Given the description of an element on the screen output the (x, y) to click on. 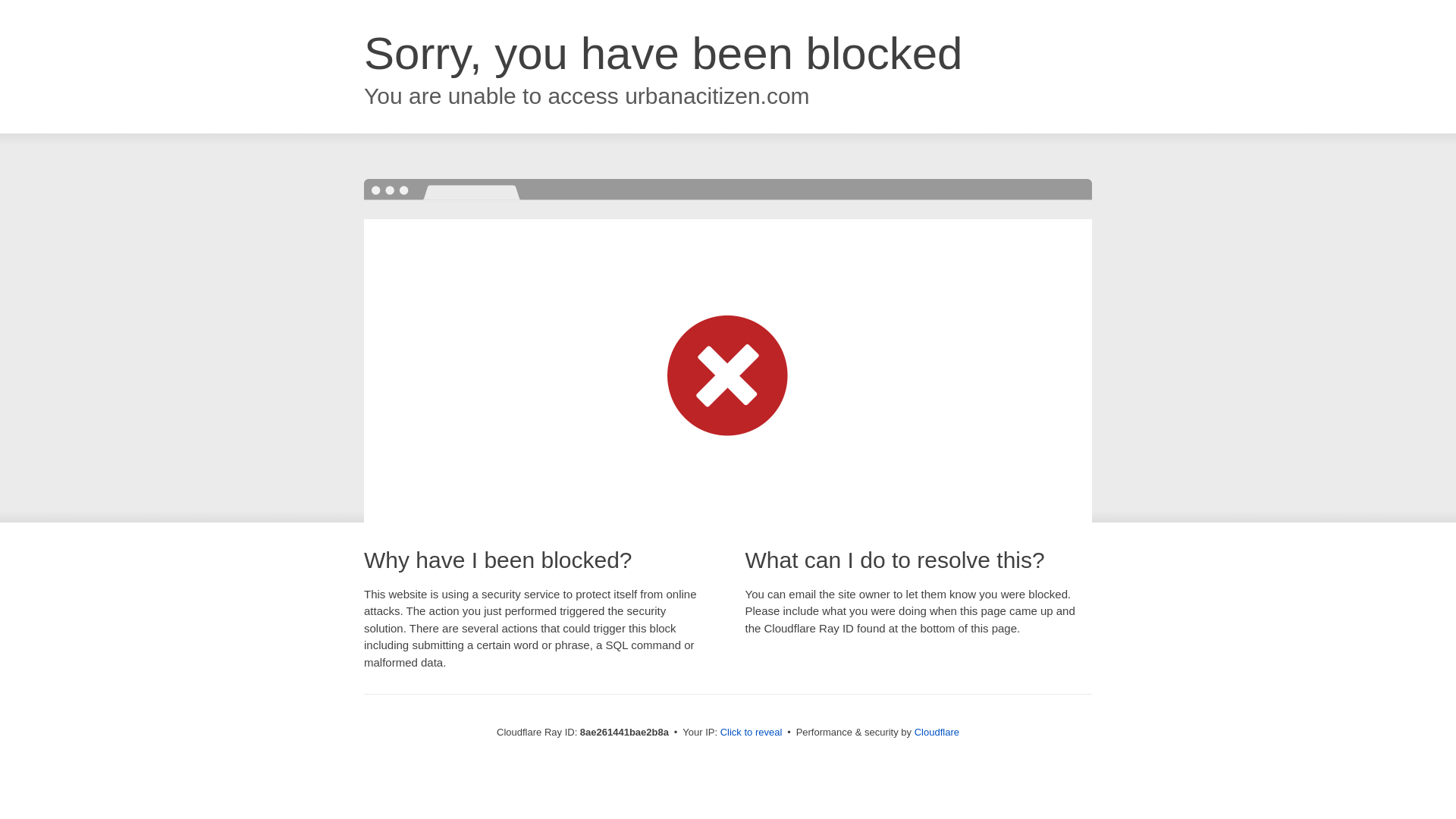
Click to reveal (751, 732)
Cloudflare (936, 731)
